Given the description of an element on the screen output the (x, y) to click on. 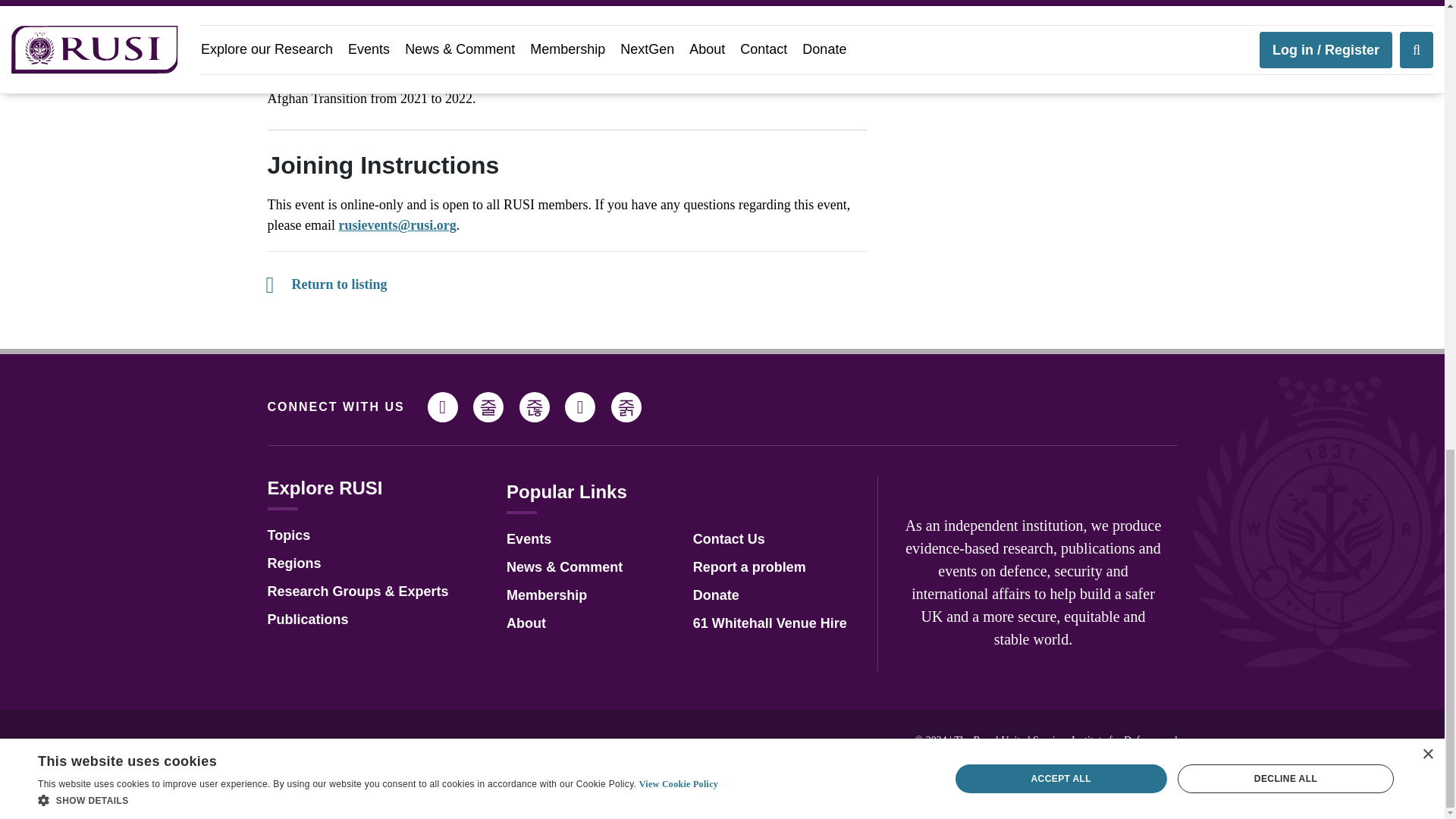
Regions (293, 563)
Return to listing (326, 283)
Events (528, 539)
Popular Links (566, 491)
Topics (288, 534)
Membership (546, 595)
Sir Simon Gass GCMG CVO (510, 57)
Report a problem hotjar survey (749, 566)
Publications (306, 619)
Donate (716, 595)
61 Whitehall Venue Hire (770, 622)
Explore RUSI (323, 487)
